Given the description of an element on the screen output the (x, y) to click on. 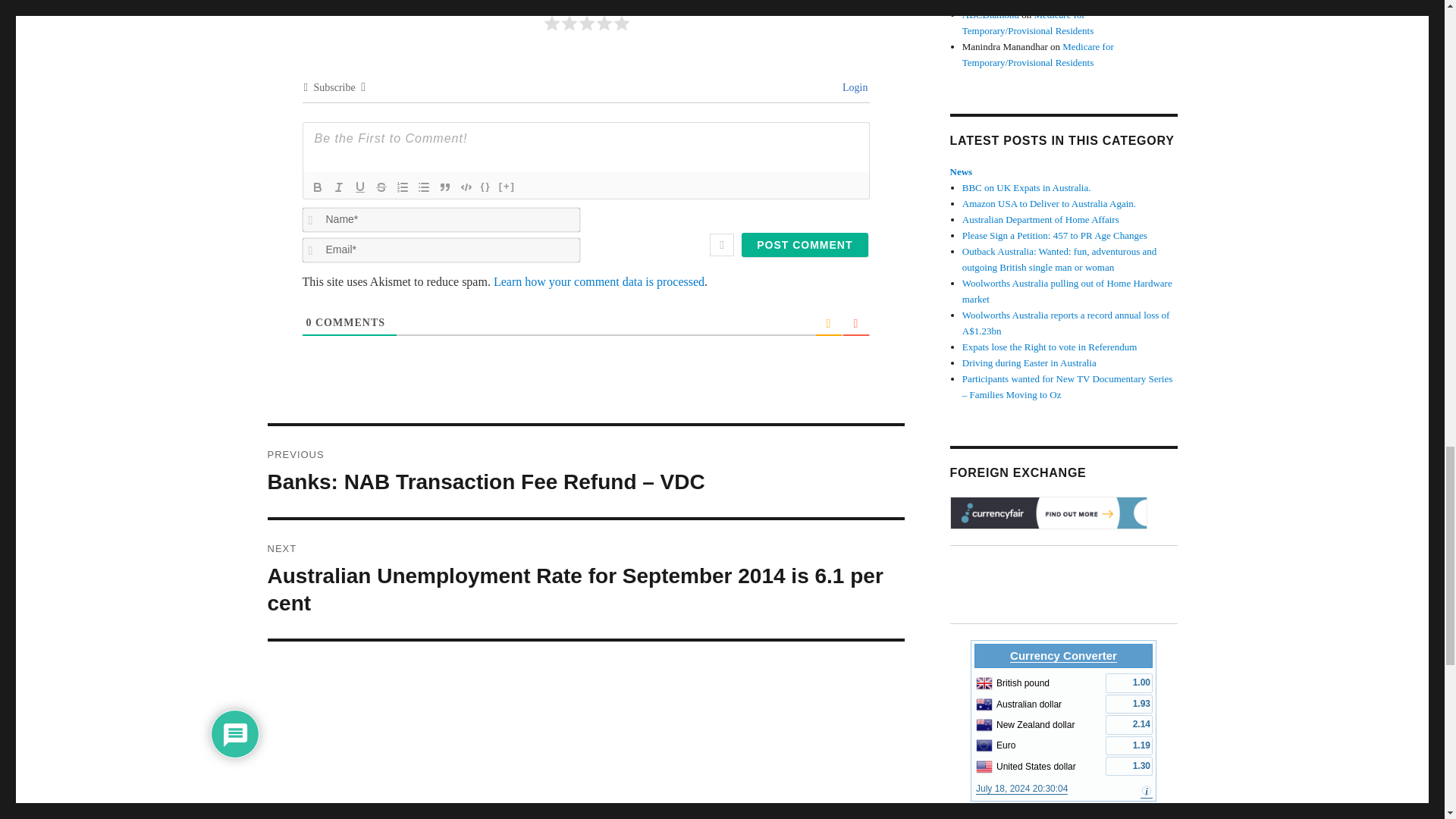
Italic (338, 187)
Unordered List (422, 187)
2.14 (1129, 723)
1.93 (1129, 703)
Blockquote (443, 187)
Code Block (465, 187)
Source Code (485, 187)
Underline (359, 187)
Post Comment (804, 244)
Ordered List (401, 187)
Bold (316, 187)
1.19 (1129, 745)
1.00 (1129, 682)
Strike (380, 187)
1.30 (1129, 765)
